Given the description of an element on the screen output the (x, y) to click on. 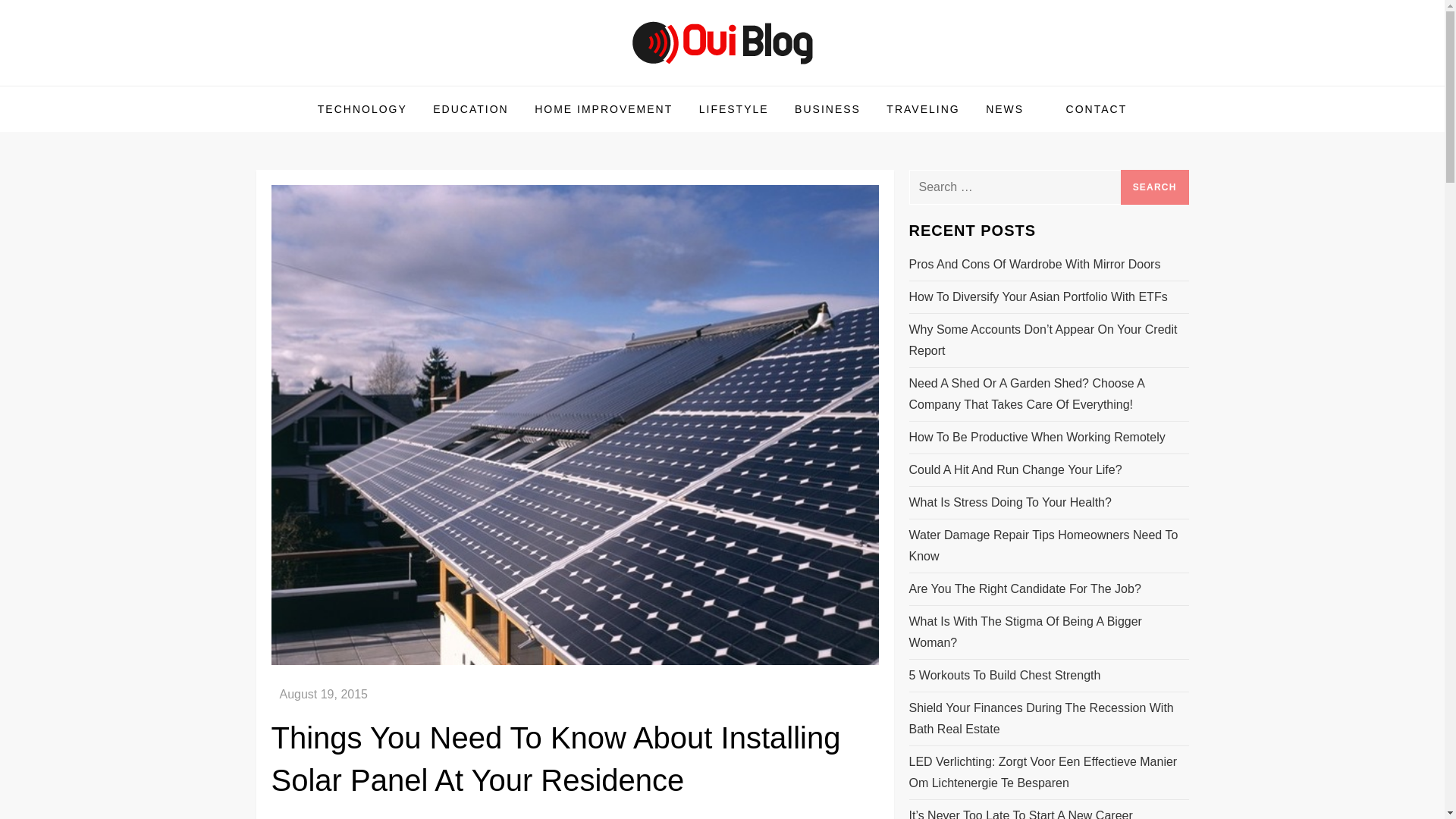
5 Workouts To Build Chest Strength (1004, 675)
What Is With The Stigma Of Being A Bigger Woman? (1048, 631)
LIFESTYLE (733, 108)
CONTACT (1096, 108)
EDUCATION (470, 108)
What Is Stress Doing To Your Health? (1009, 502)
Are You The Right Candidate For The Job? (1024, 588)
NEWS (1012, 108)
Could A Hit And Run Change Your Life? (1014, 469)
